Given the description of an element on the screen output the (x, y) to click on. 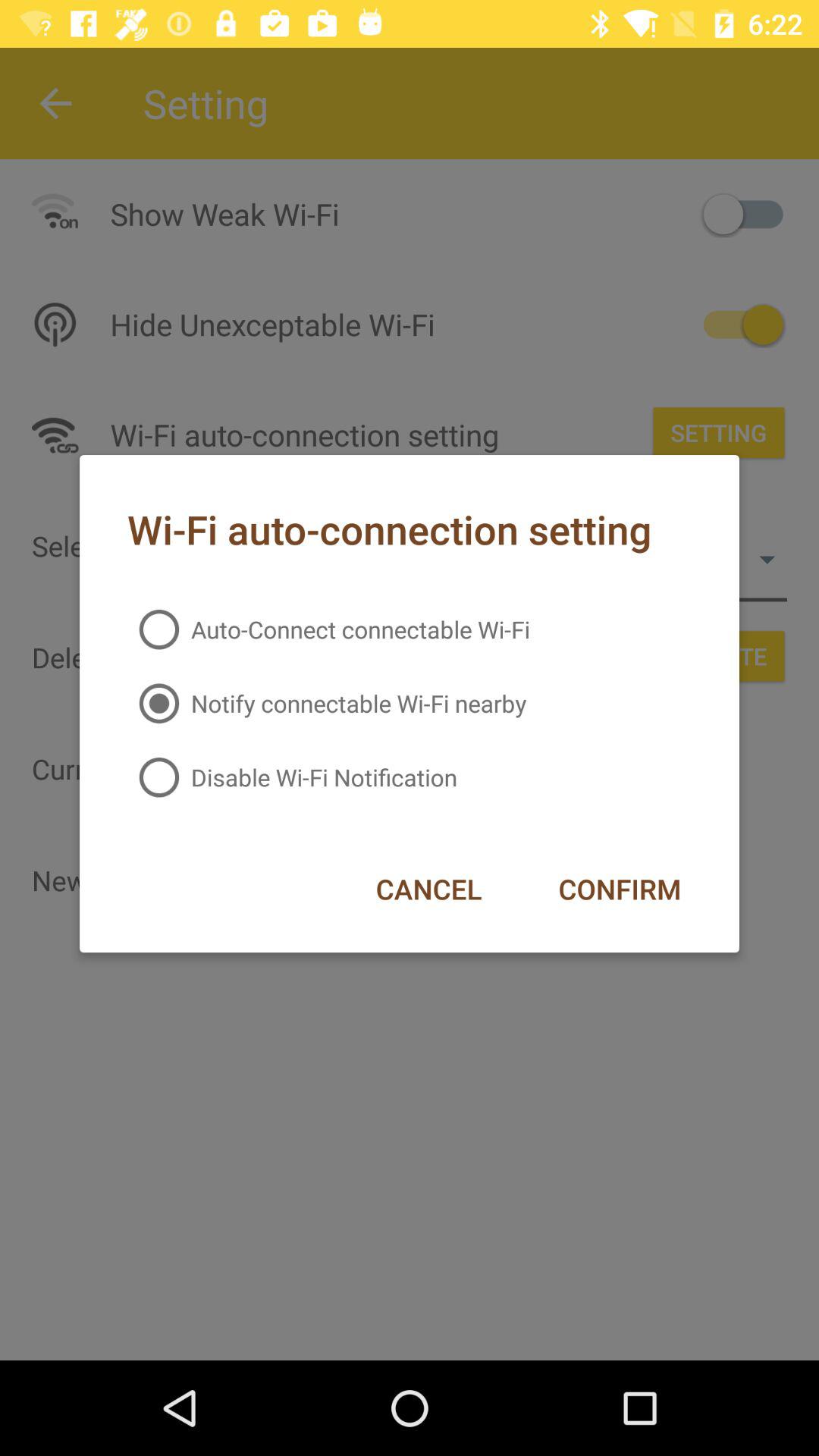
launch the confirm icon (619, 888)
